Given the description of an element on the screen output the (x, y) to click on. 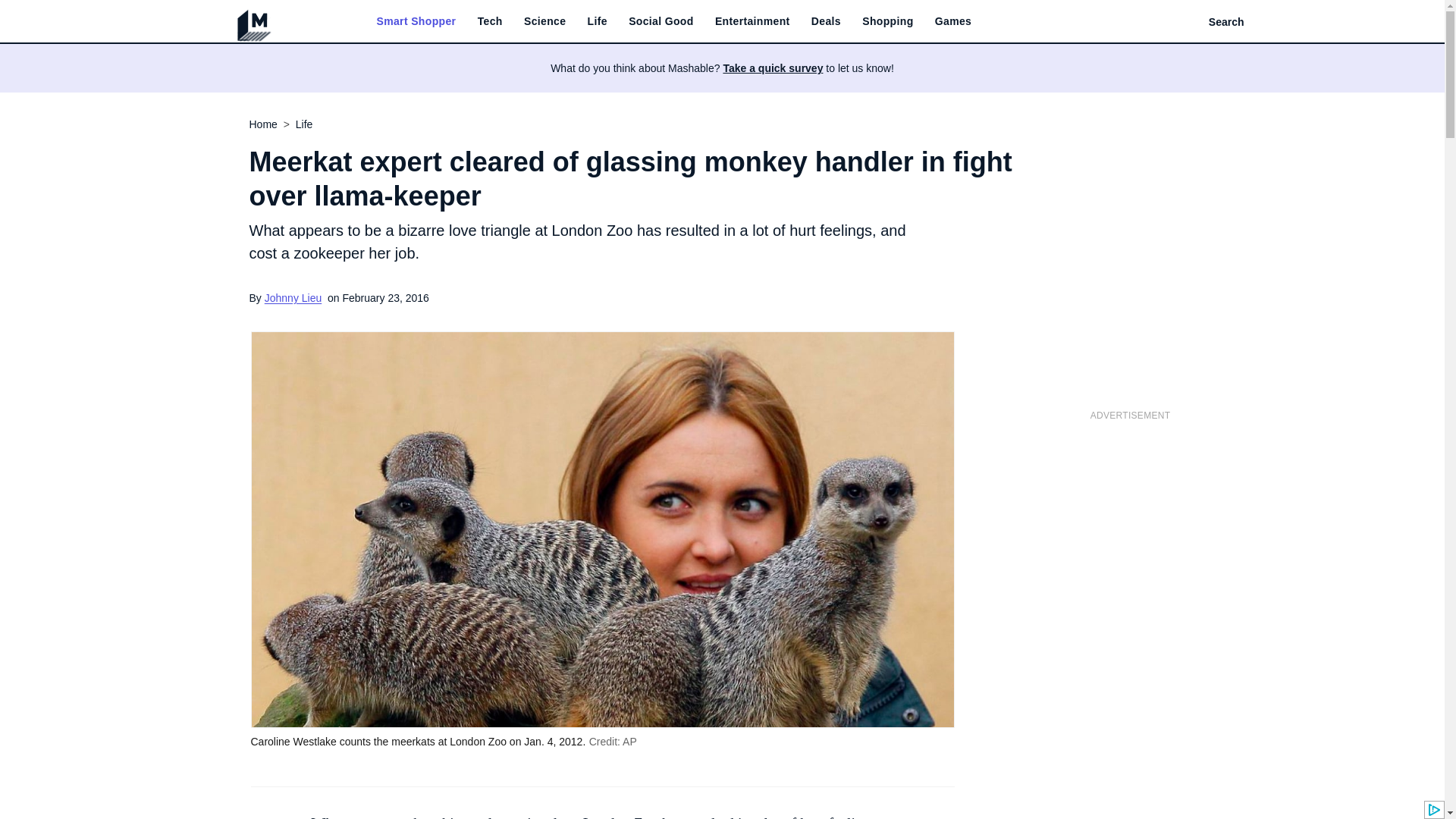
Shopping (886, 21)
Tech (489, 21)
Entertainment (752, 21)
Smart Shopper (415, 21)
Life (597, 21)
Science (545, 21)
Social Good (661, 21)
Games (952, 21)
Deals (825, 21)
